Given the description of an element on the screen output the (x, y) to click on. 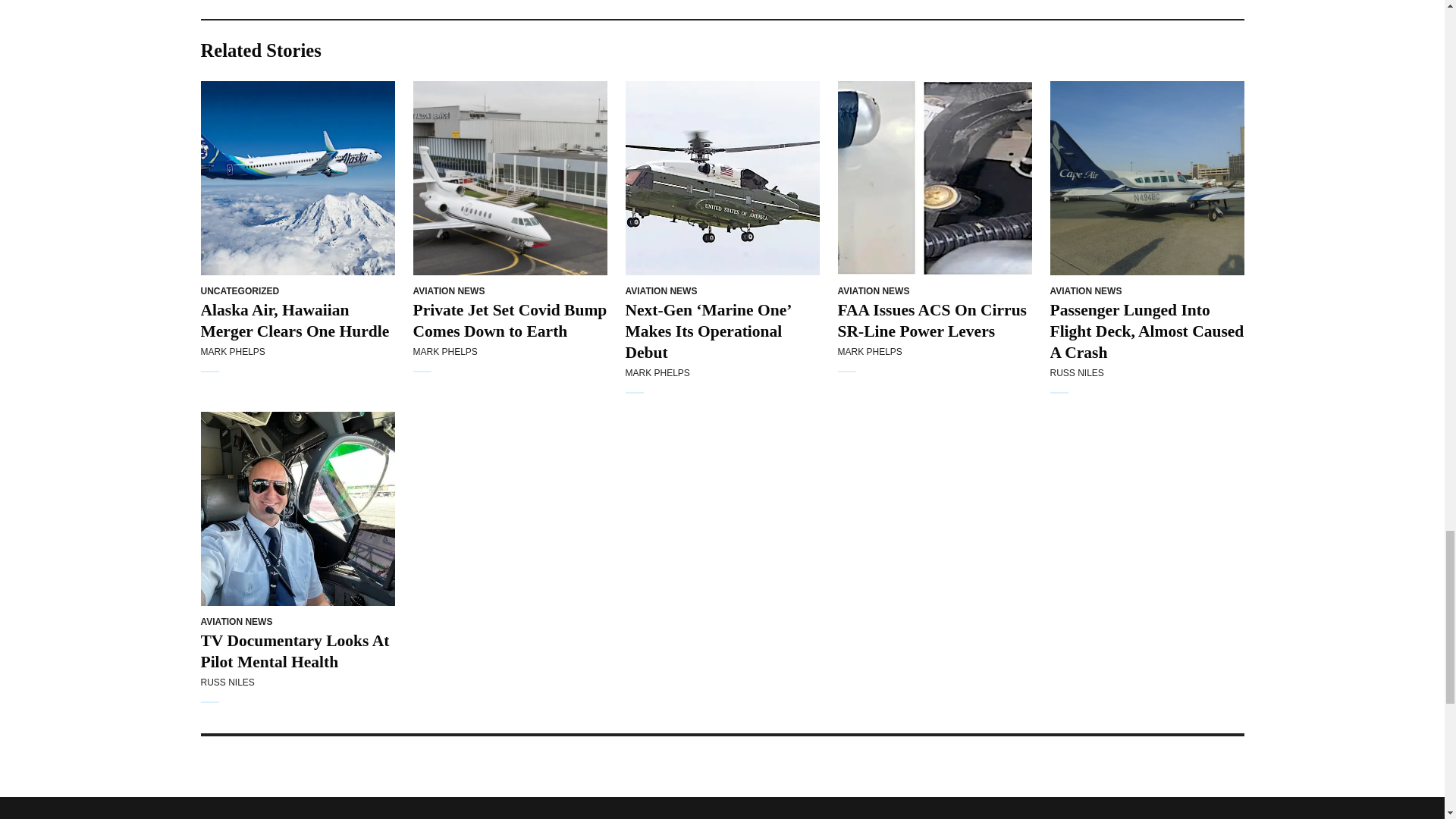
Alaska Air, Hawaiian Merger Clears One Hurdle (297, 178)
Private Jet Set Covid Bump Comes Down to Earth (509, 178)
TV Documentary Looks At Pilot Mental Health (297, 508)
Passenger Lunged Into Flight Deck, Almost Caused A Crash (1146, 178)
FAA Issues ACS On Cirrus SR-Line Power Levers (933, 178)
